Given the description of an element on the screen output the (x, y) to click on. 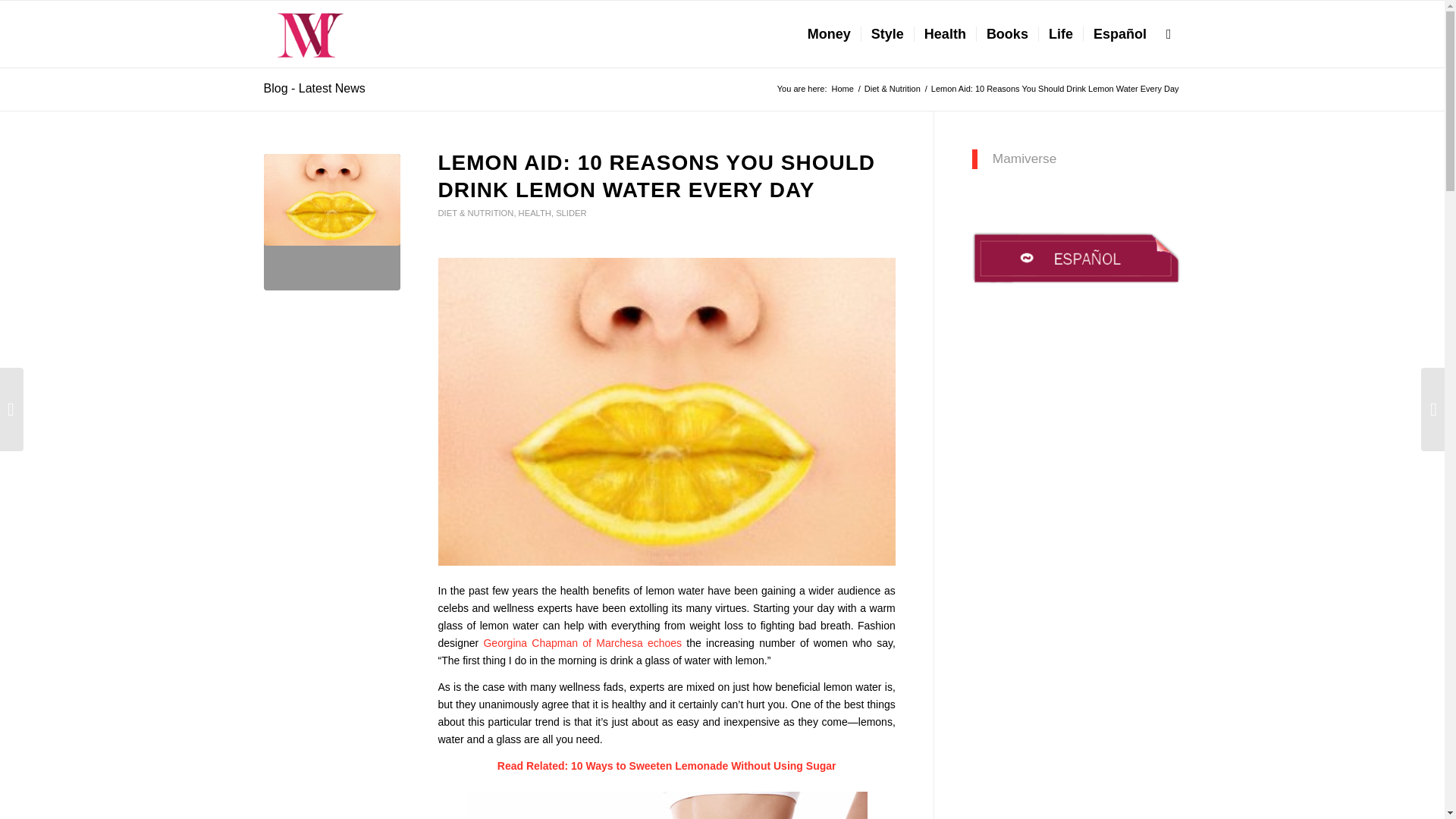
Mamiverse (842, 89)
Books (1006, 33)
Permanent Link: Blog - Latest News (314, 88)
Blog - Latest News (314, 88)
Money (828, 33)
10 Ways to Sweeten Lemonade Without Using Sugar (702, 766)
HEALTH (534, 212)
SLIDER (571, 212)
LEMON AID: 10 REASONS YOU SHOULD DRINK LEMON WATER EVERY DAY (657, 175)
